Given the description of an element on the screen output the (x, y) to click on. 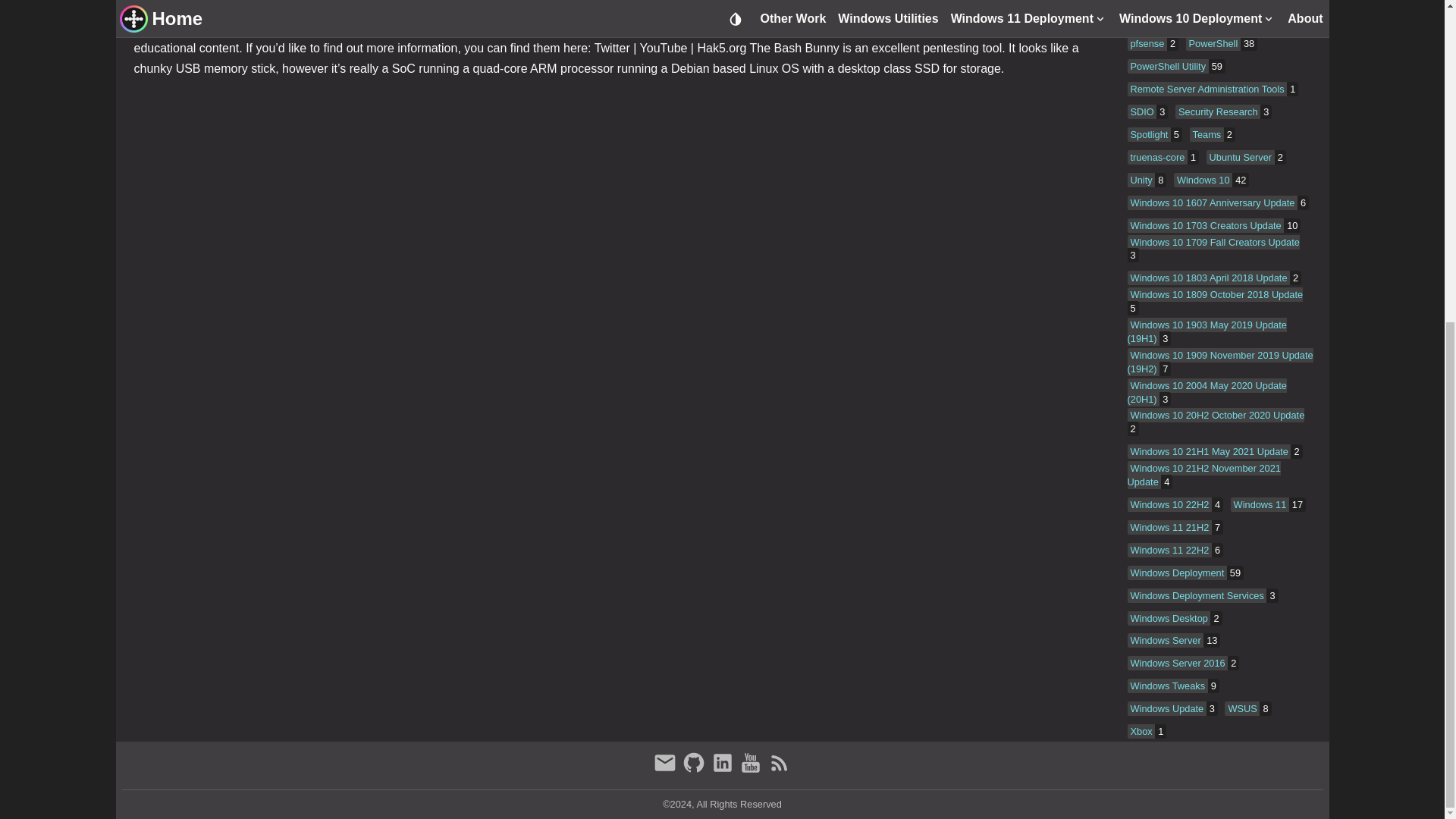
email (666, 769)
Reading Time (226, 2)
RSS (779, 769)
github (695, 769)
Written At (163, 2)
linkedin (724, 769)
youtube (752, 769)
